Given the description of an element on the screen output the (x, y) to click on. 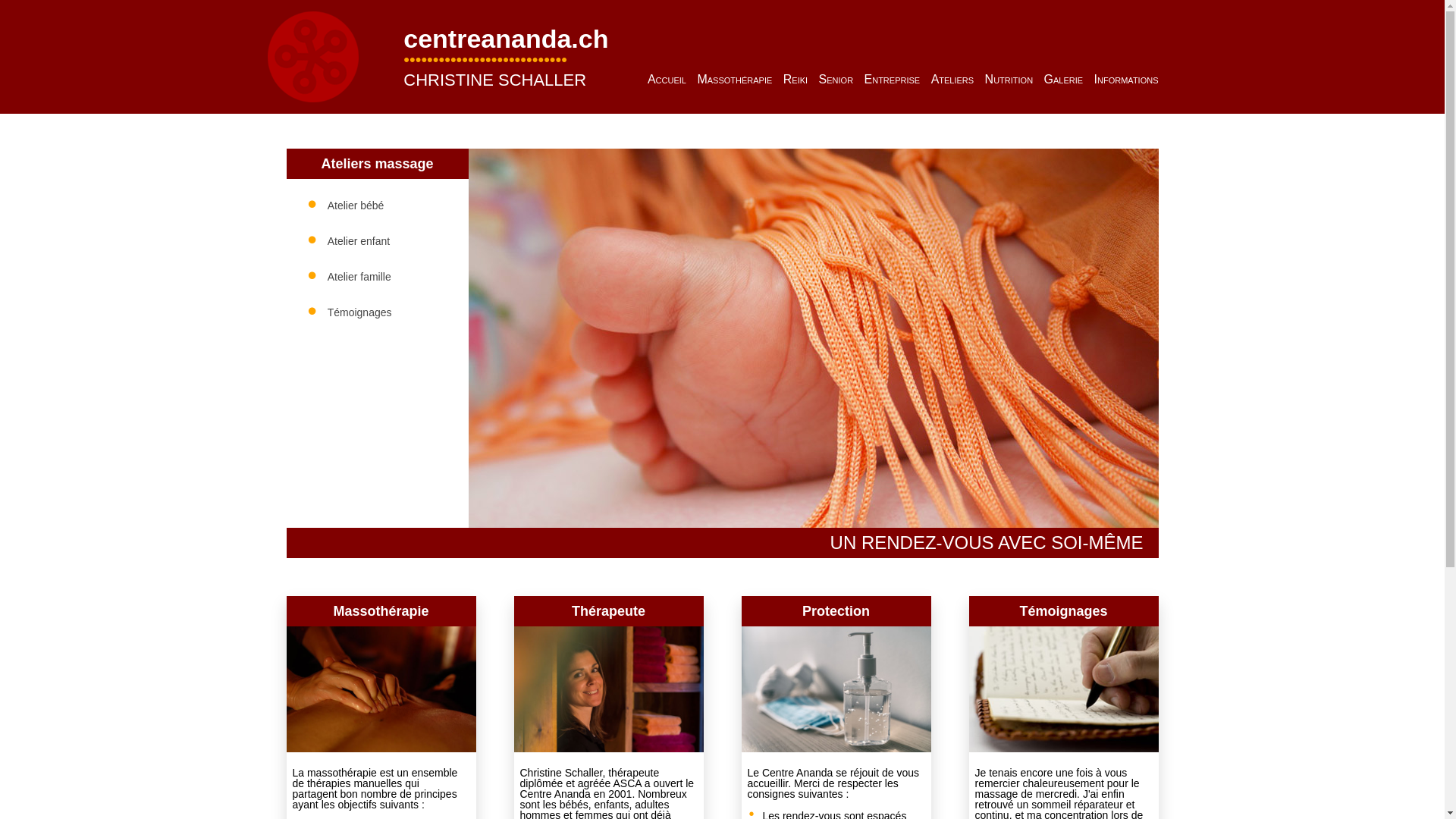
Reiki Element type: text (795, 78)
Ateliers Element type: text (952, 78)
Accueil Element type: text (666, 78)
Nutrition Element type: text (1009, 78)
Senior Element type: text (836, 78)
Entreprise Element type: text (892, 78)
Galerie Element type: text (1063, 78)
Informations Element type: text (1126, 78)
